Given the description of an element on the screen output the (x, y) to click on. 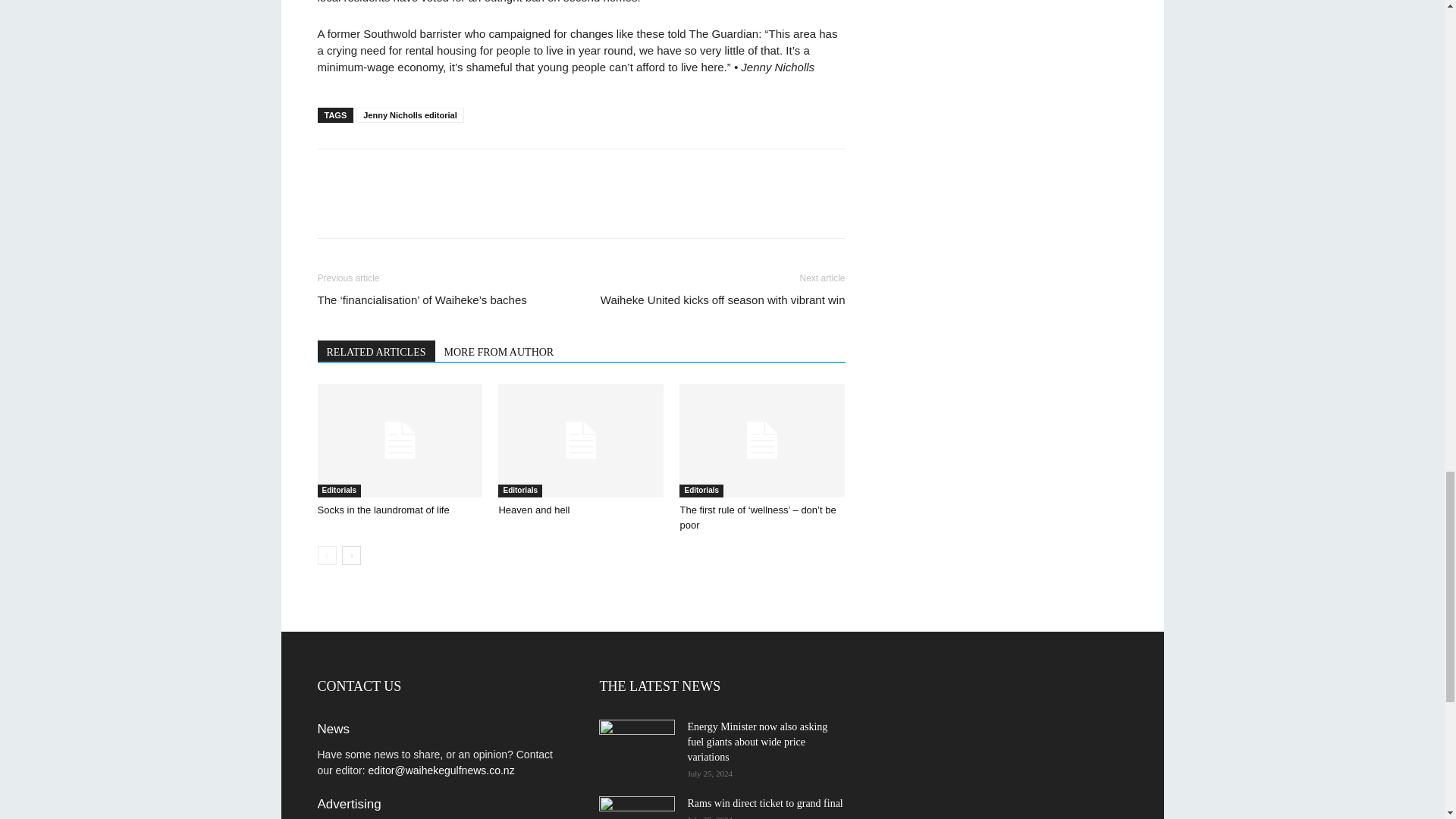
Socks in the laundromat of life (399, 440)
